Given the description of an element on the screen output the (x, y) to click on. 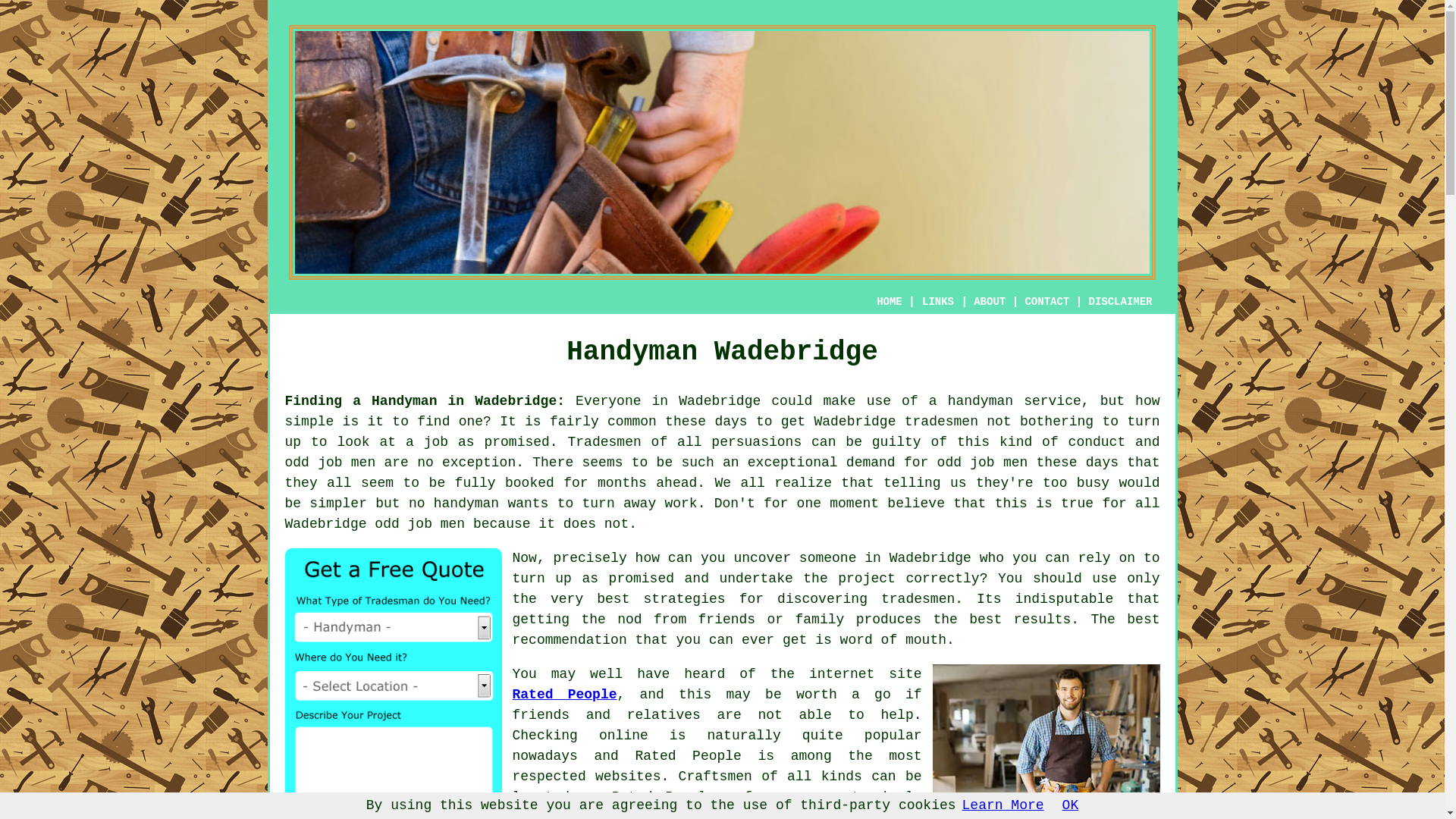
Handyman Wadebridge Cornwall (1046, 739)
LINKS (938, 301)
HOME (889, 301)
